Given the description of an element on the screen output the (x, y) to click on. 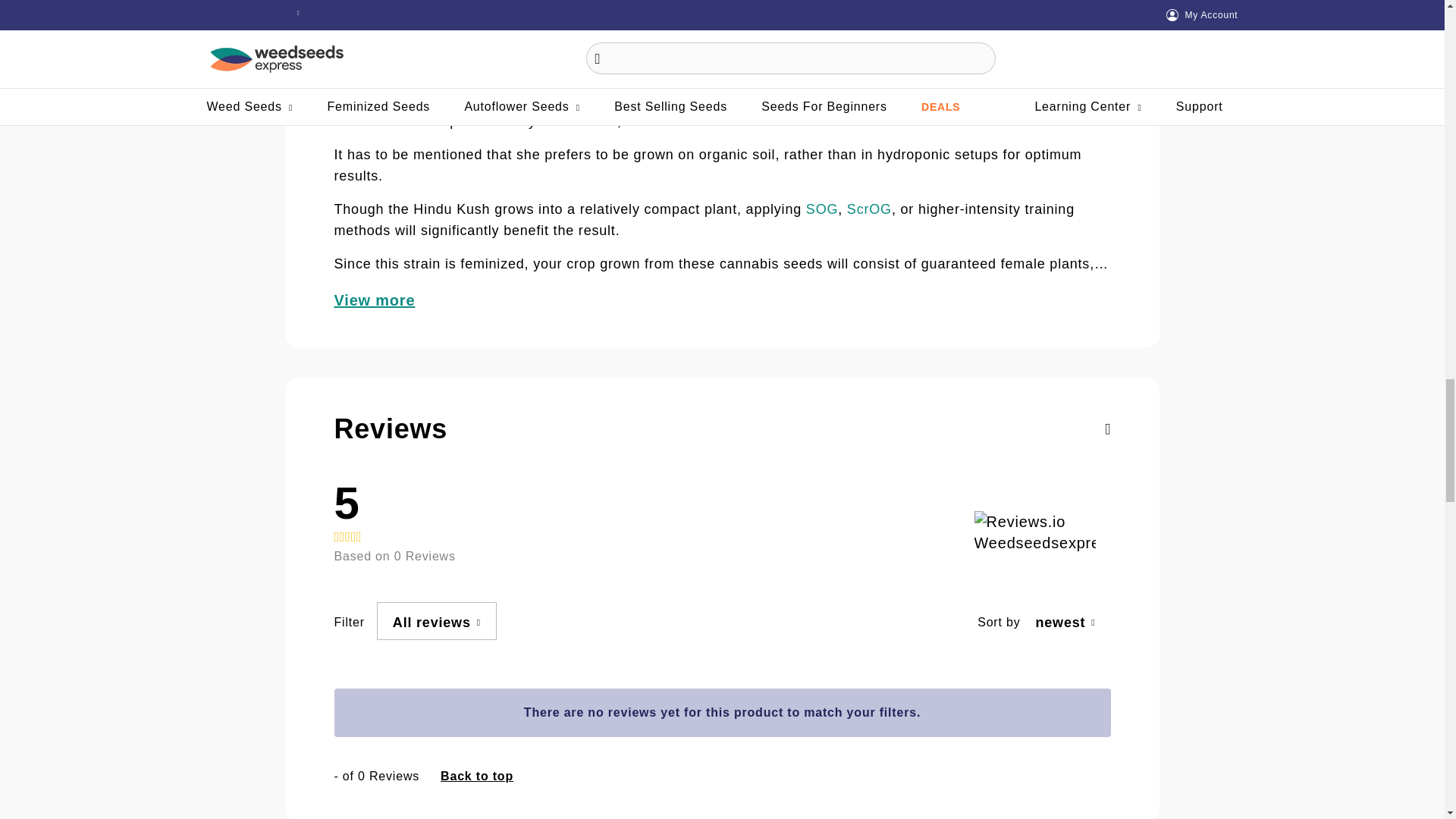
click to visit our WeedSeedsExpress profile on Reviews.io (1034, 532)
